Given the description of an element on the screen output the (x, y) to click on. 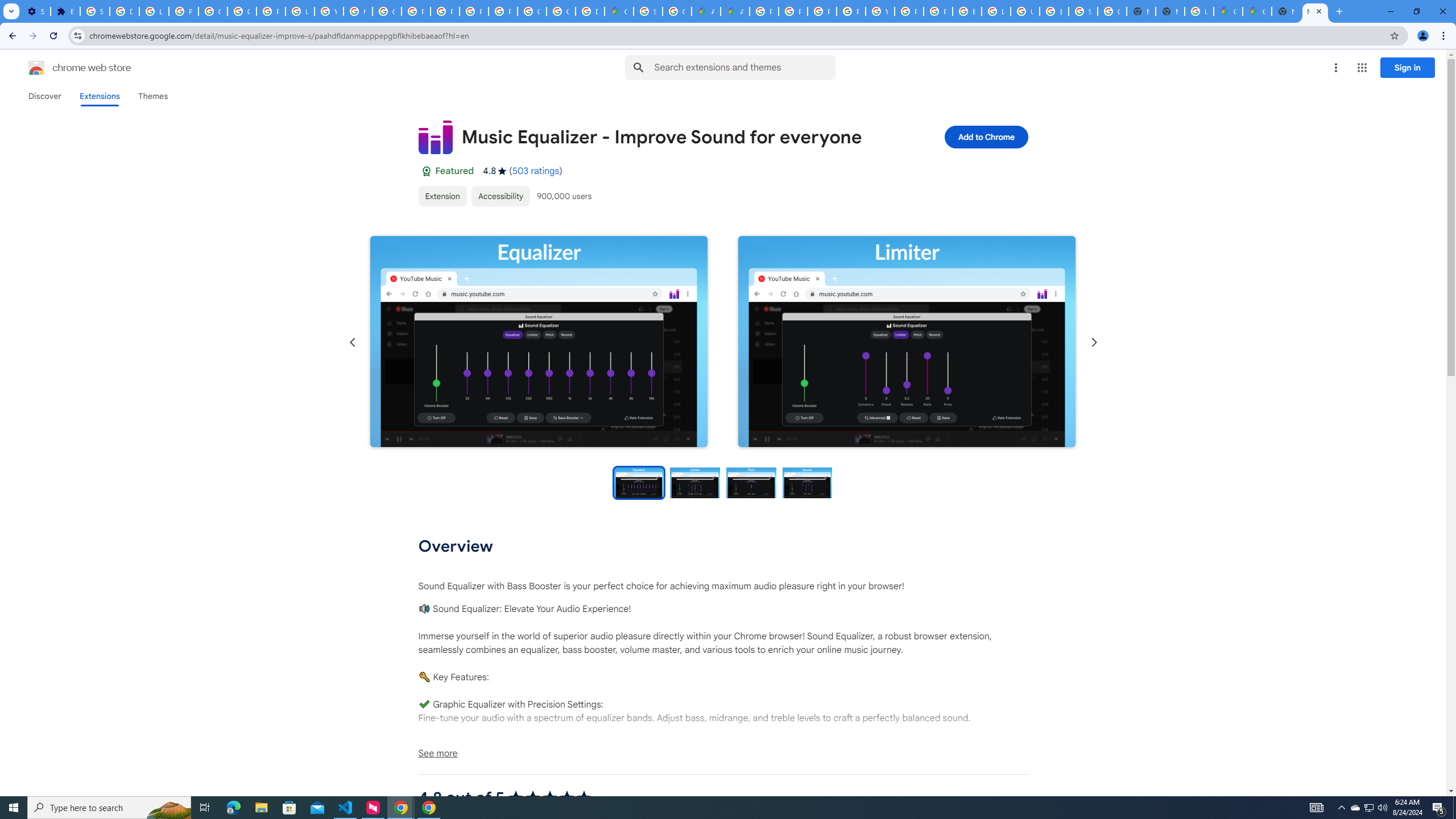
Discover (43, 95)
Next slide (1093, 342)
Delete photos & videos - Computer - Google Photos Help (124, 11)
Browse Chrome as a guest - Computer - Google Chrome Help (967, 11)
Extensions (65, 11)
Previous slide (352, 342)
Accessibility (499, 195)
New Tab (1169, 11)
Create your Google Account (677, 11)
Settings - On startup (35, 11)
